Given the description of an element on the screen output the (x, y) to click on. 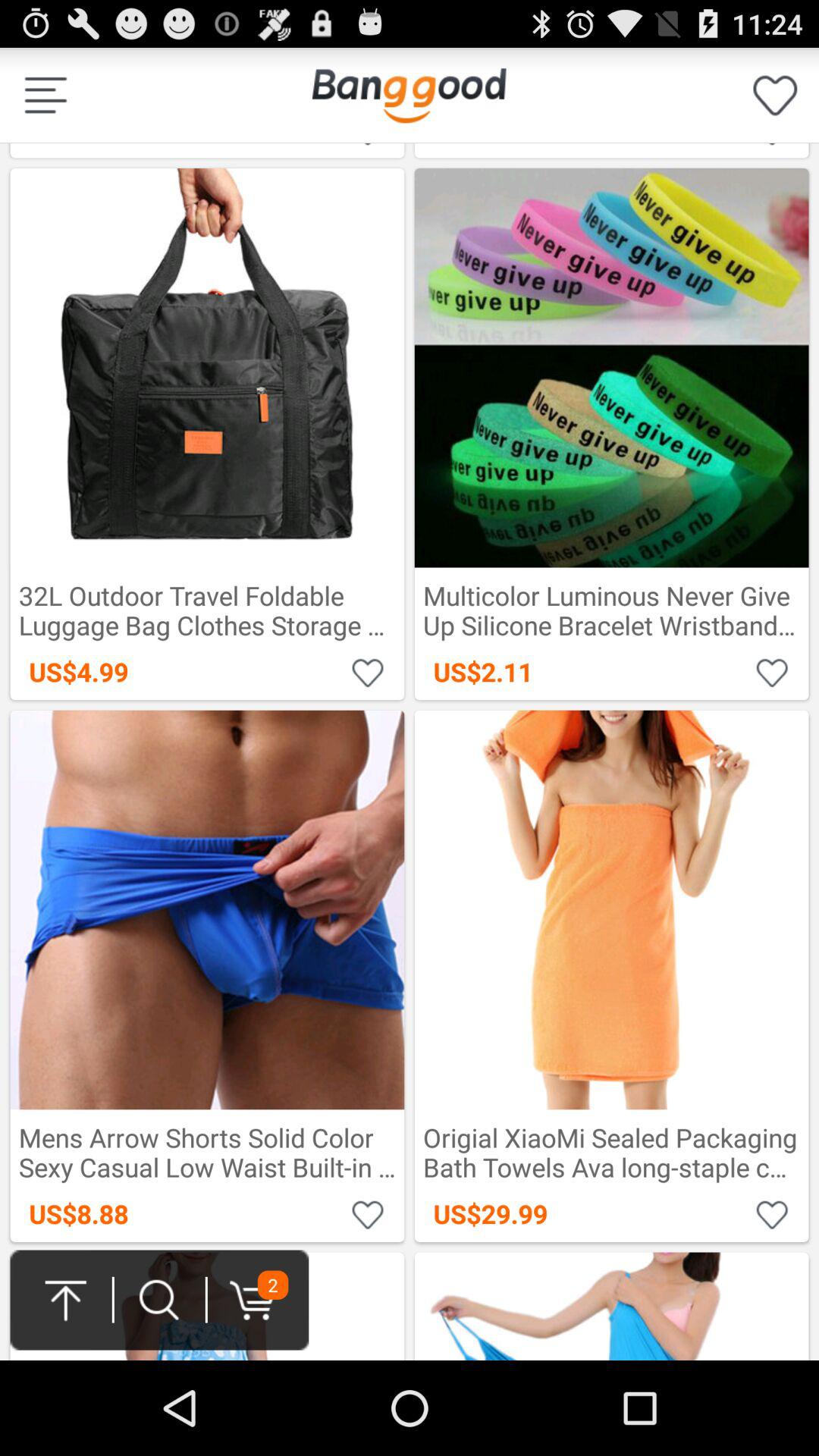
main menu (409, 95)
